Given the description of an element on the screen output the (x, y) to click on. 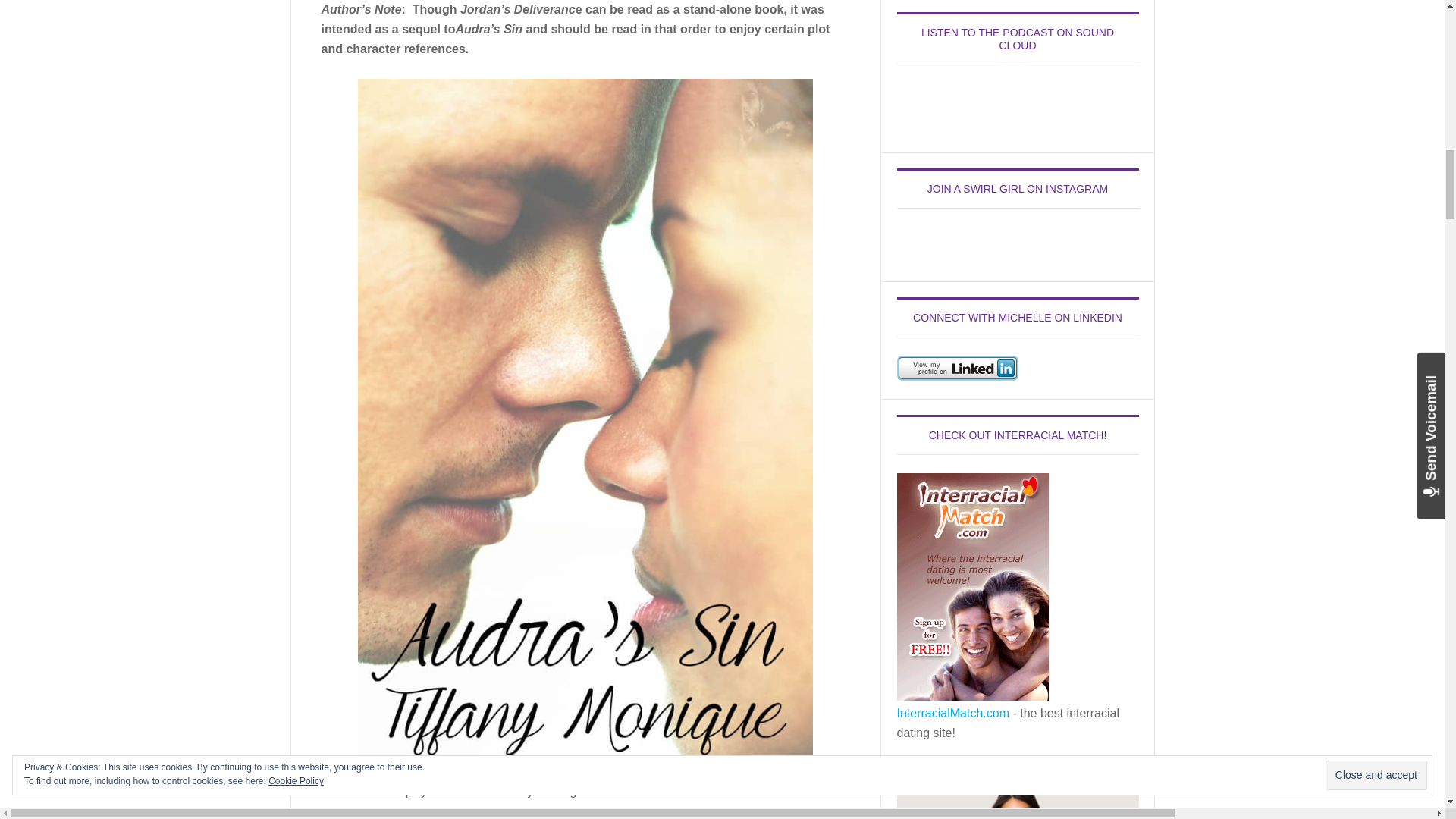
here (591, 790)
